Given the description of an element on the screen output the (x, y) to click on. 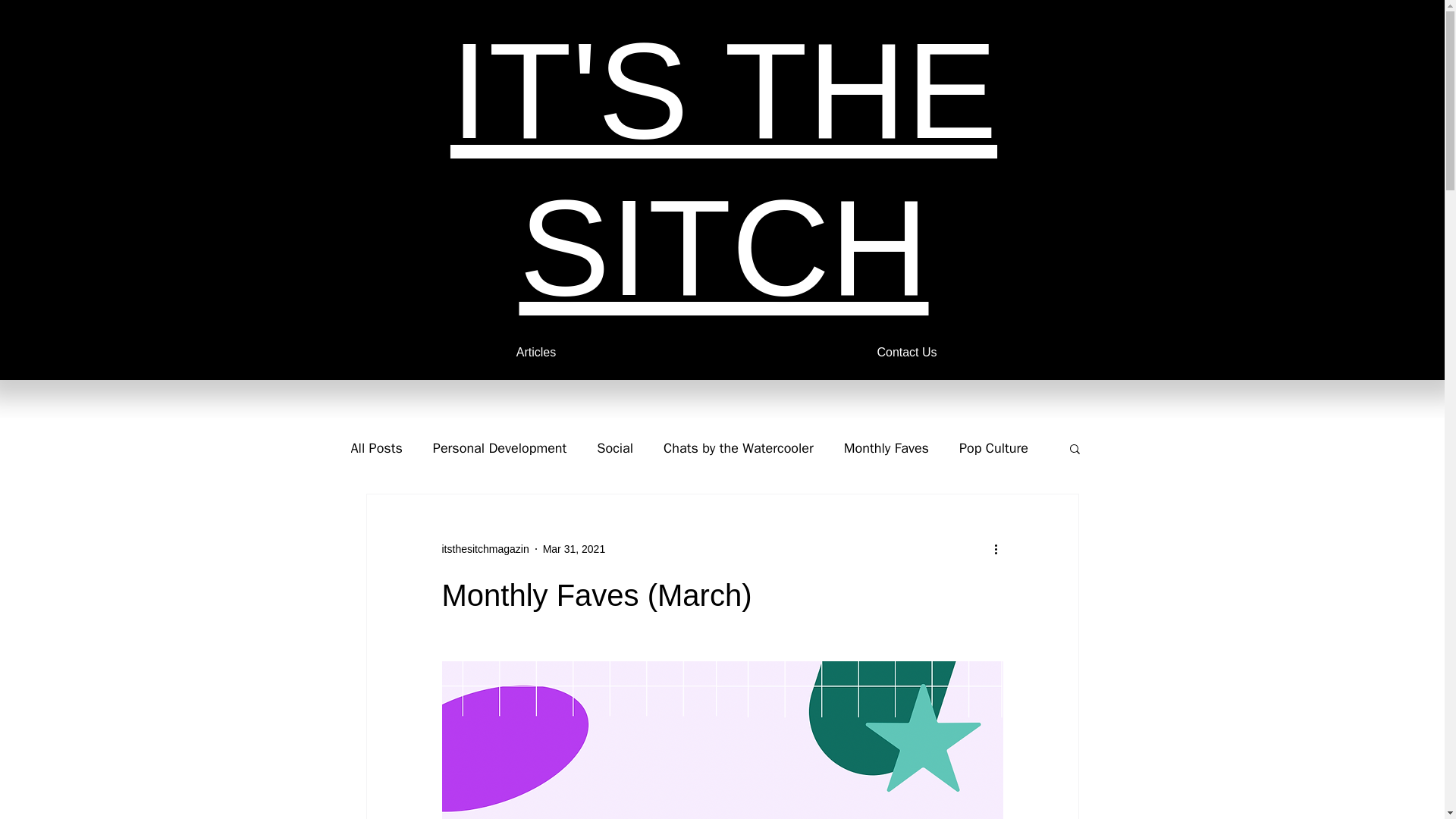
itsthesitchmagazin (484, 549)
All Posts (375, 447)
Pop Culture (993, 447)
Personal Development (499, 447)
Chats by the Watercooler (738, 447)
Contact Us (907, 351)
Articles (535, 351)
itsthesitchmagazin (484, 549)
Social (614, 447)
Monthly Faves (886, 447)
Mar 31, 2021 (574, 548)
